Given the description of an element on the screen output the (x, y) to click on. 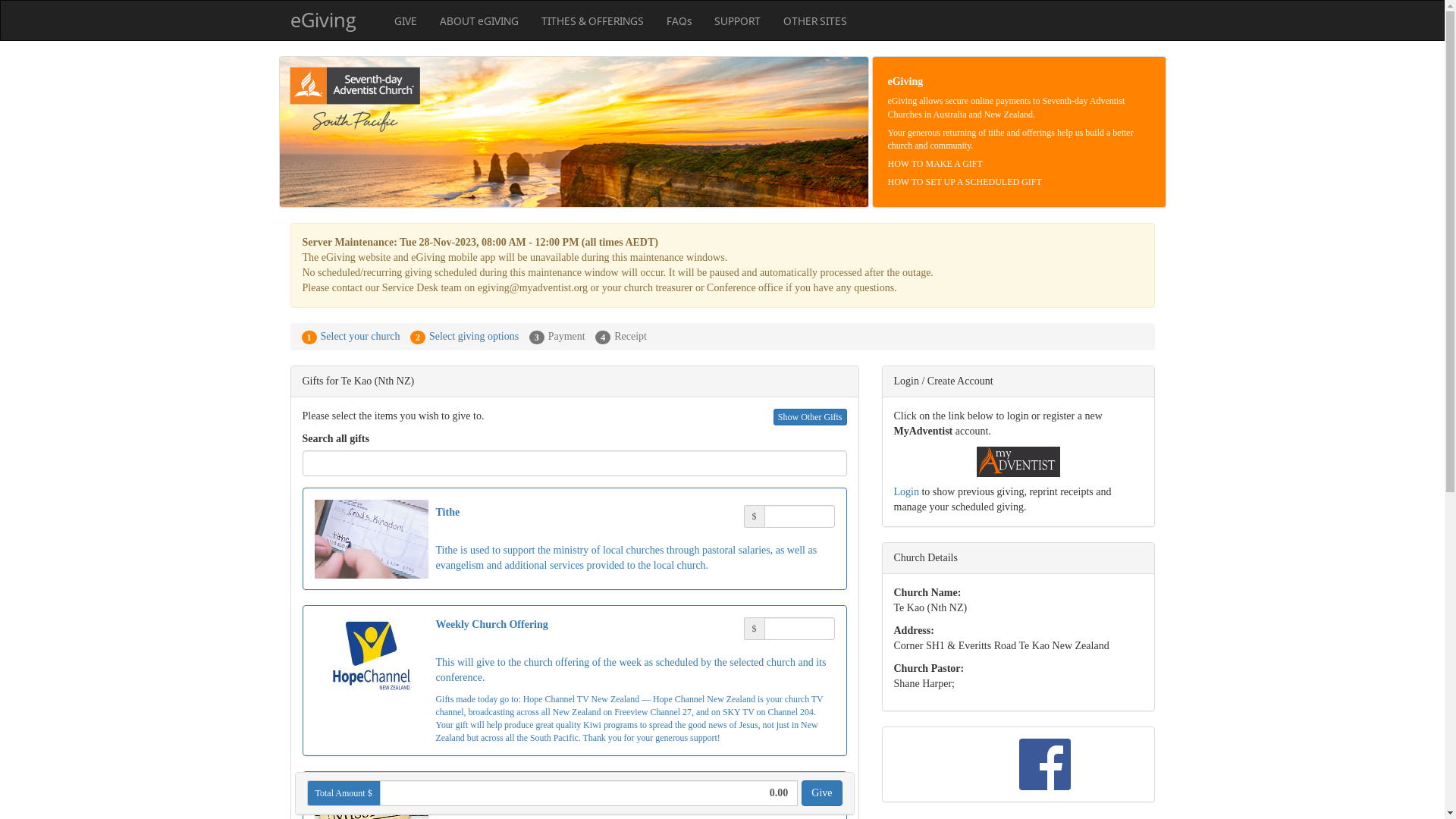
2Select giving options Element type: text (464, 336)
HOW TO MAKE A GIFT Element type: text (934, 163)
HOW TO SET UP A SCHEDULED GIFT Element type: text (964, 181)
eGiving Element type: text (323, 19)
SUPPORT Element type: text (736, 21)
TITHES & OFFERINGS Element type: text (591, 21)
OTHER SITES Element type: text (814, 21)
1Select your church Element type: text (350, 336)
Show Other Gifts Element type: text (810, 416)
GIVE Element type: text (404, 21)
FAQs Element type: text (678, 21)
Give Element type: text (821, 793)
Login Element type: text (905, 491)
ABOUT eGIVING Element type: text (478, 21)
